Given the description of an element on the screen output the (x, y) to click on. 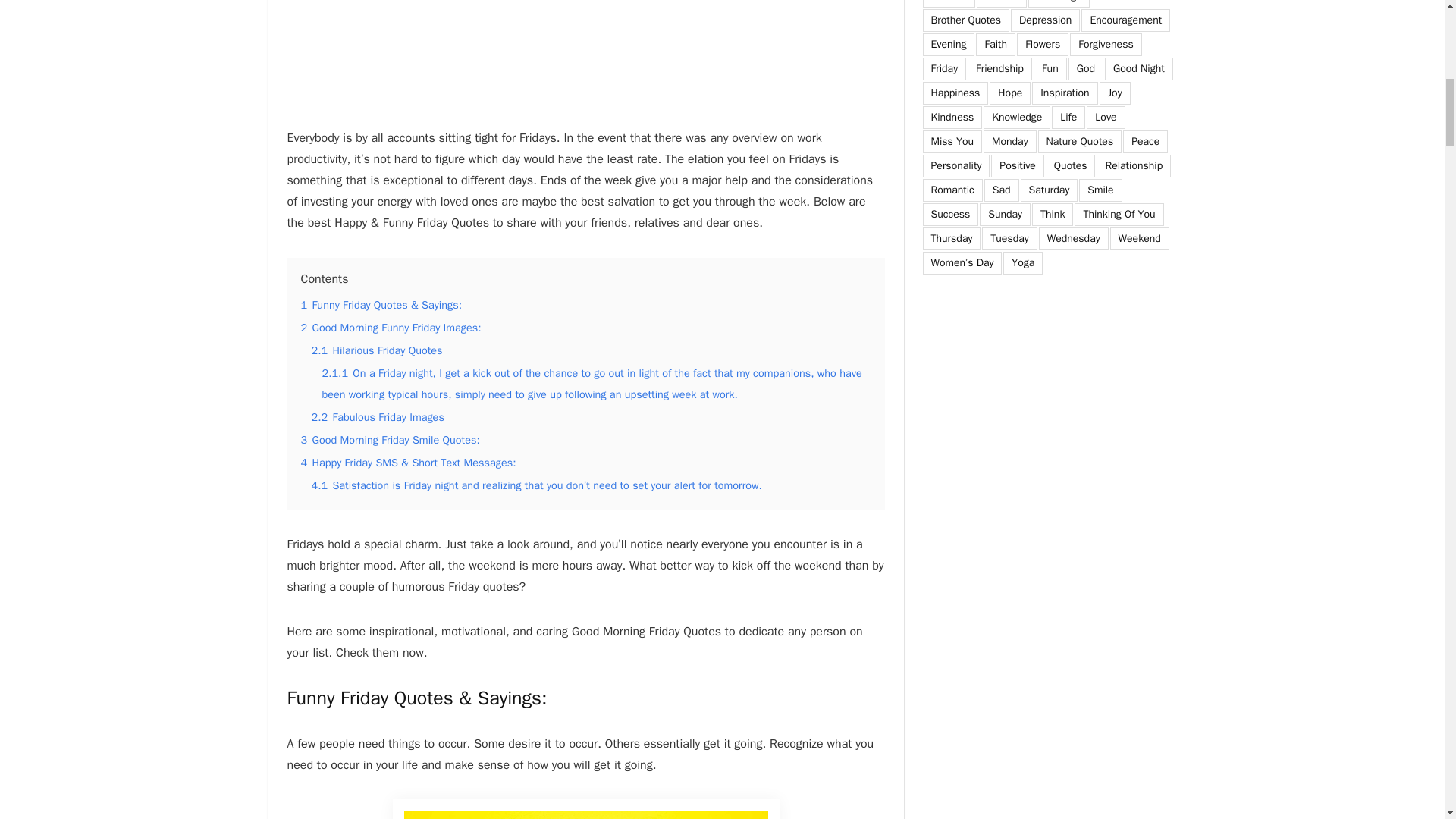
2.1 Hilarious Friday Quotes (376, 350)
Advertisement (584, 63)
3 Good Morning Friday Smile Quotes: (389, 439)
2 Good Morning Funny Friday Images: (389, 327)
Have a Fantastic Friday Smile Quotes - Funny Friday Quotes (585, 814)
2.2 Fabulous Friday Images (377, 417)
